Given the description of an element on the screen output the (x, y) to click on. 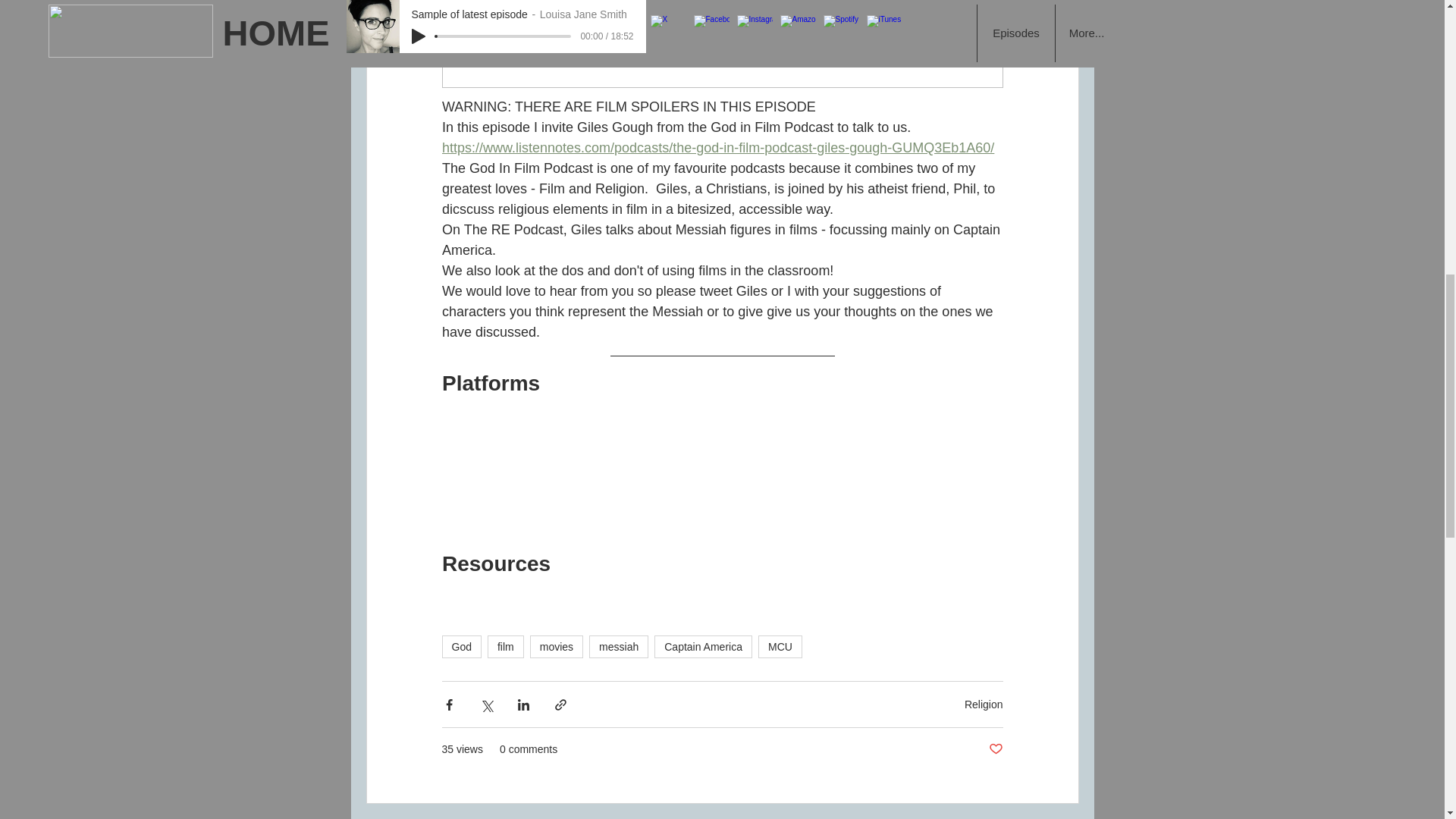
Captain America (702, 646)
MCU (780, 646)
God (460, 646)
messiah (618, 646)
Religion (983, 703)
film (505, 646)
movies (556, 646)
